Given the description of an element on the screen output the (x, y) to click on. 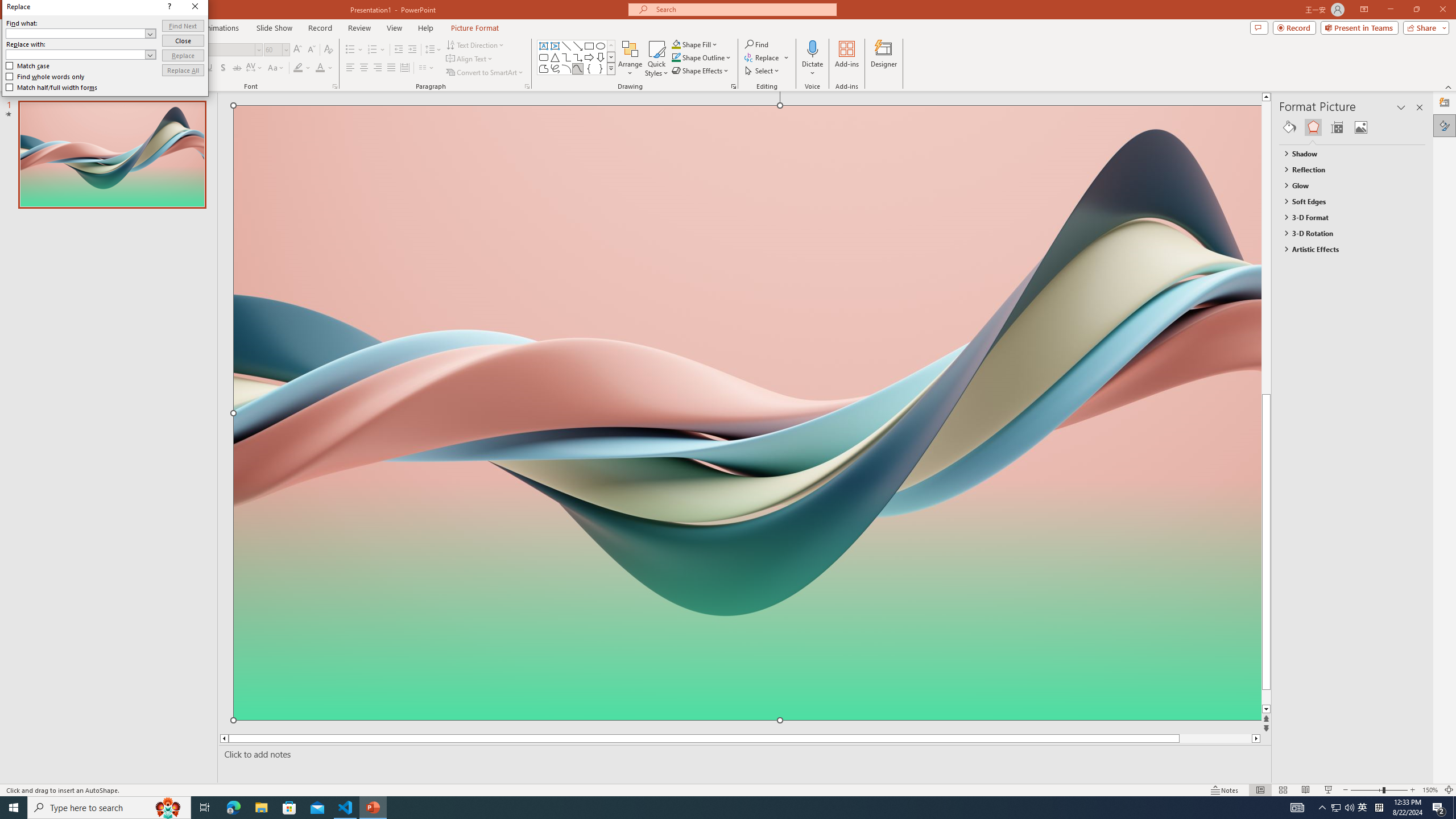
Format Picture (1444, 125)
Shape Outline Blue, Accent 1 (675, 56)
Soft Edges (1347, 201)
Slide Notes (742, 754)
